Given the description of an element on the screen output the (x, y) to click on. 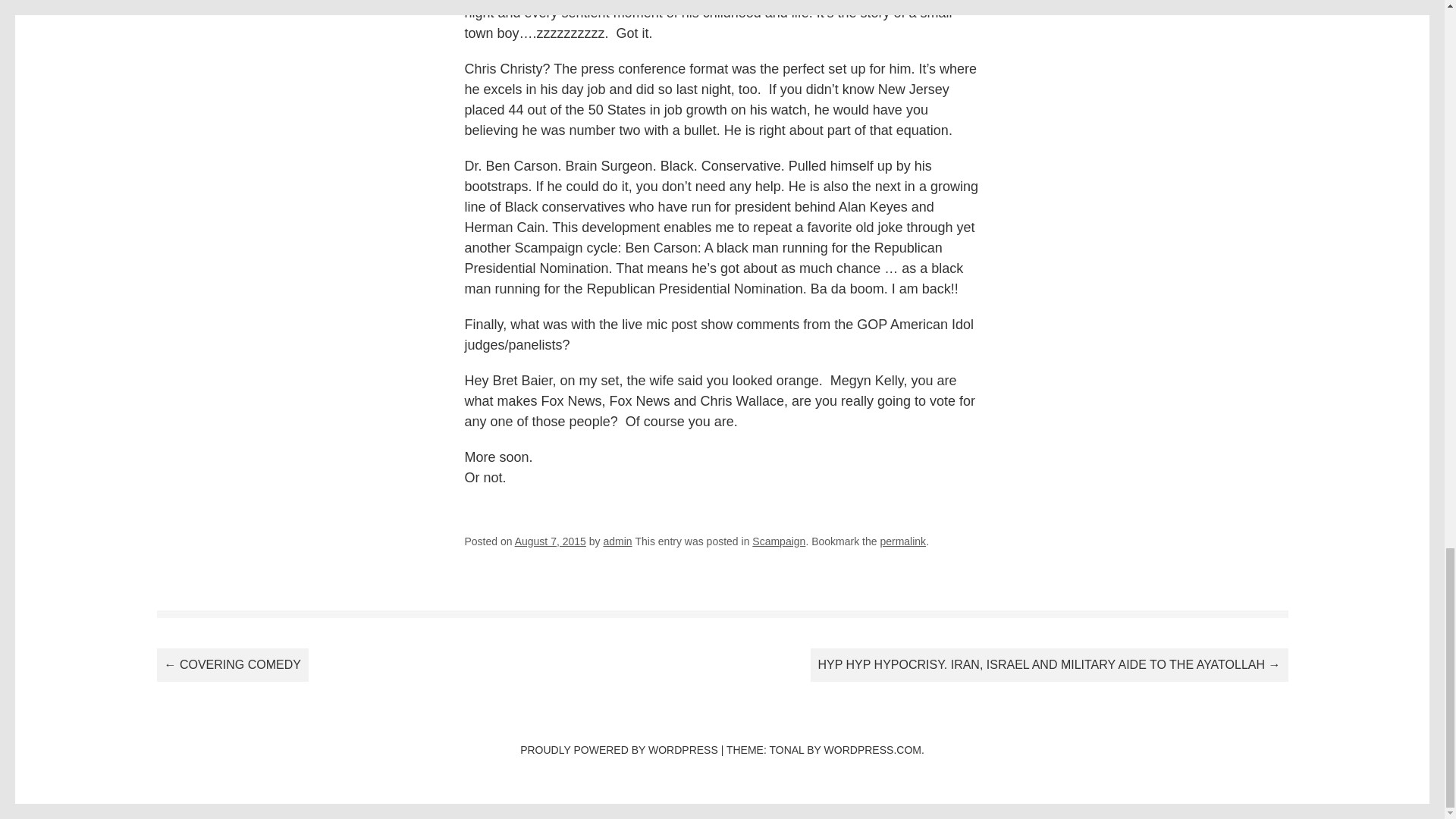
Scampaign (778, 541)
admin (616, 541)
August 7, 2015 (550, 541)
